Given the description of an element on the screen output the (x, y) to click on. 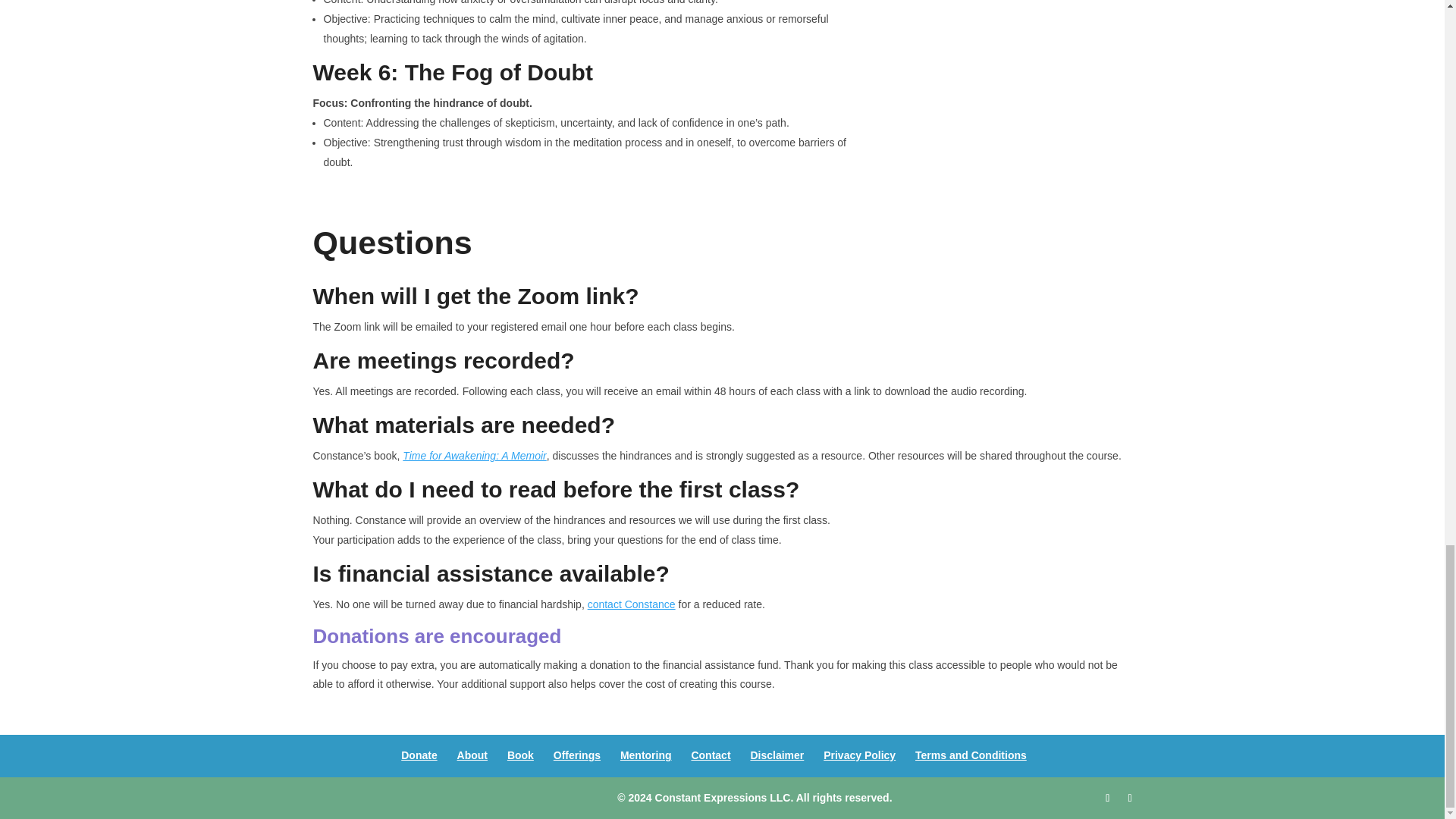
Time for Awakening: A Memoir (474, 455)
